Given the description of an element on the screen output the (x, y) to click on. 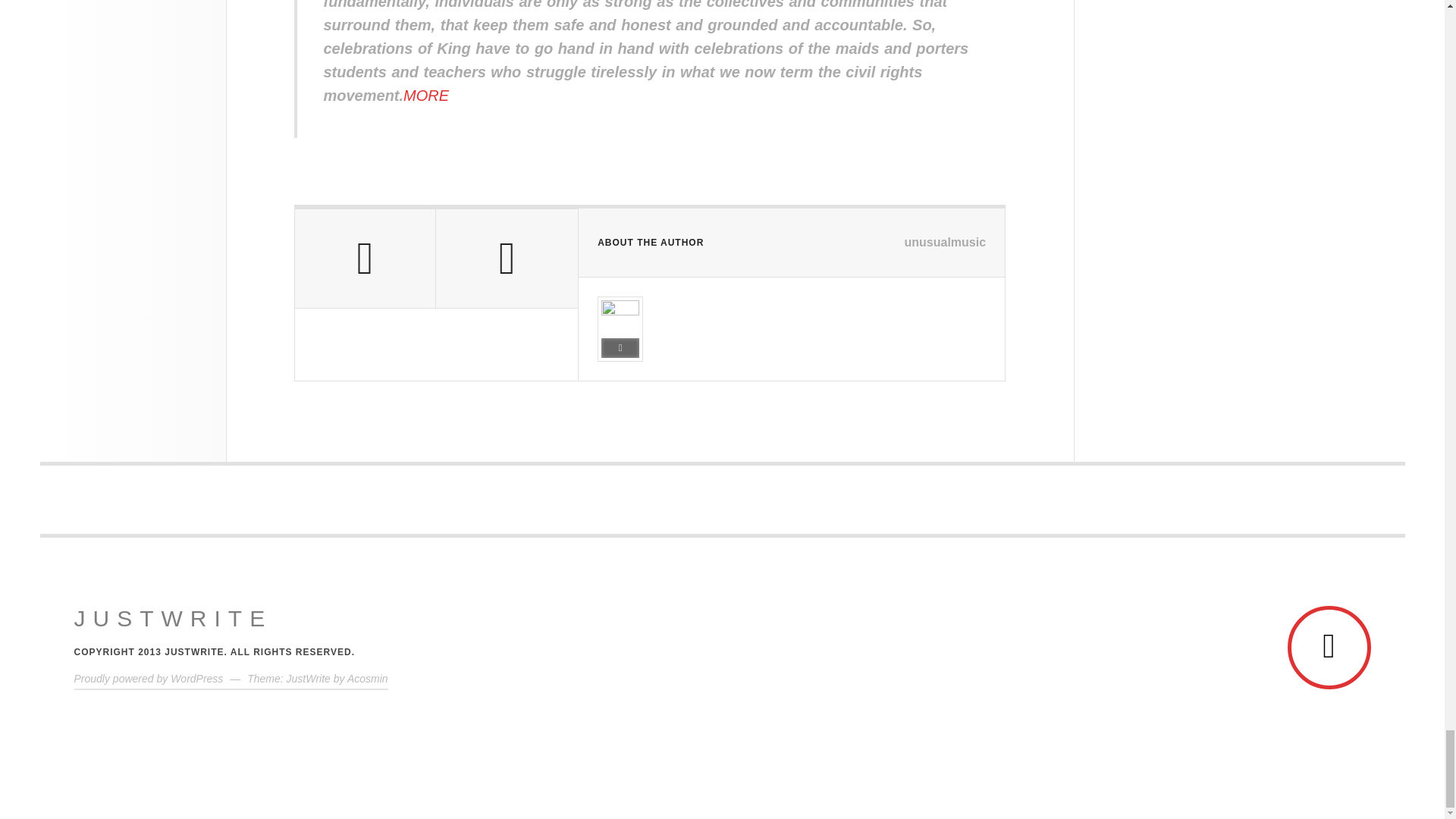
Previous Post (364, 258)
Author's Link (620, 347)
The Angry Black Woman (173, 618)
Next Post (506, 258)
